Given the description of an element on the screen output the (x, y) to click on. 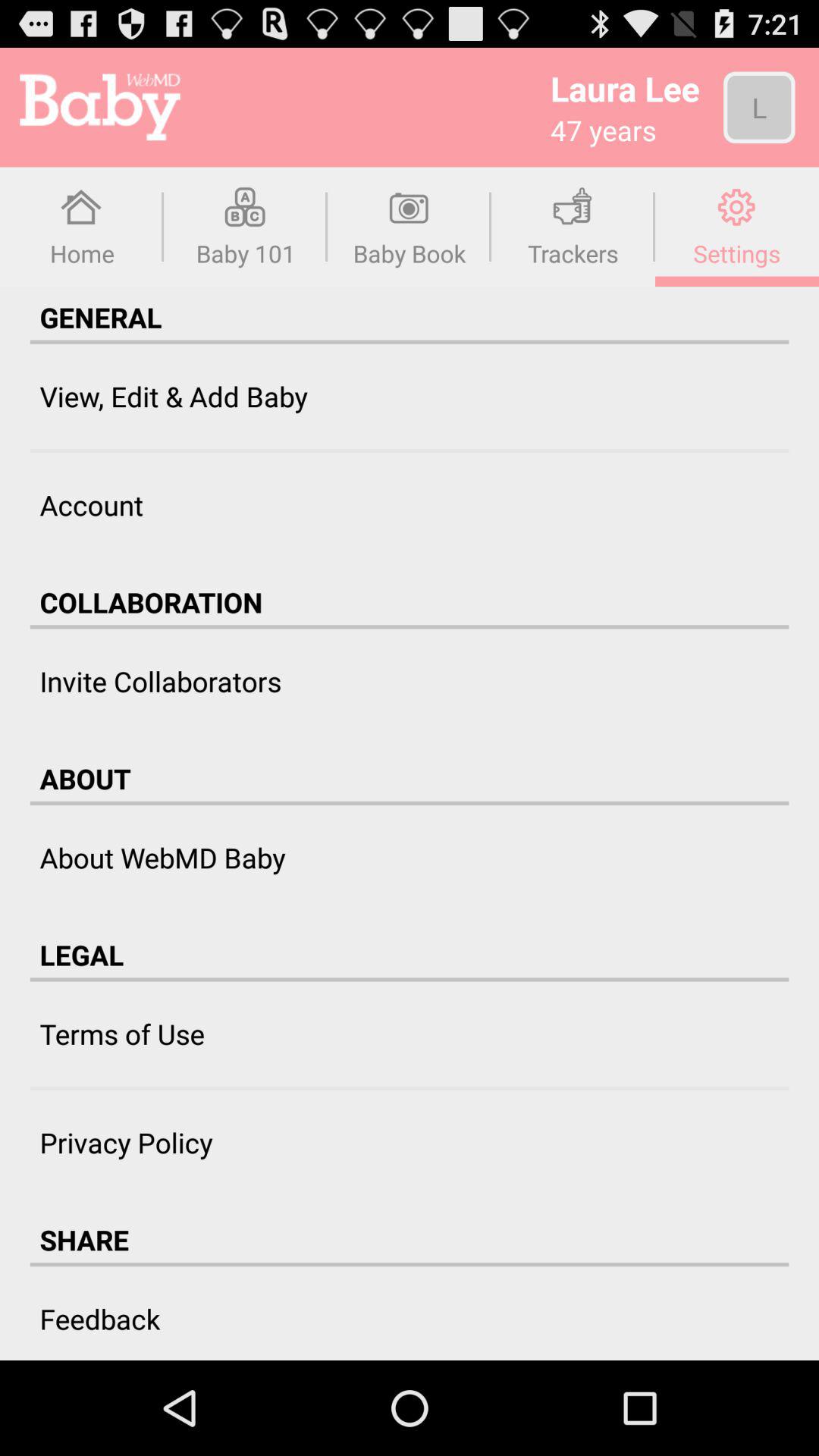
click the item below view edit add item (409, 450)
